Given the description of an element on the screen output the (x, y) to click on. 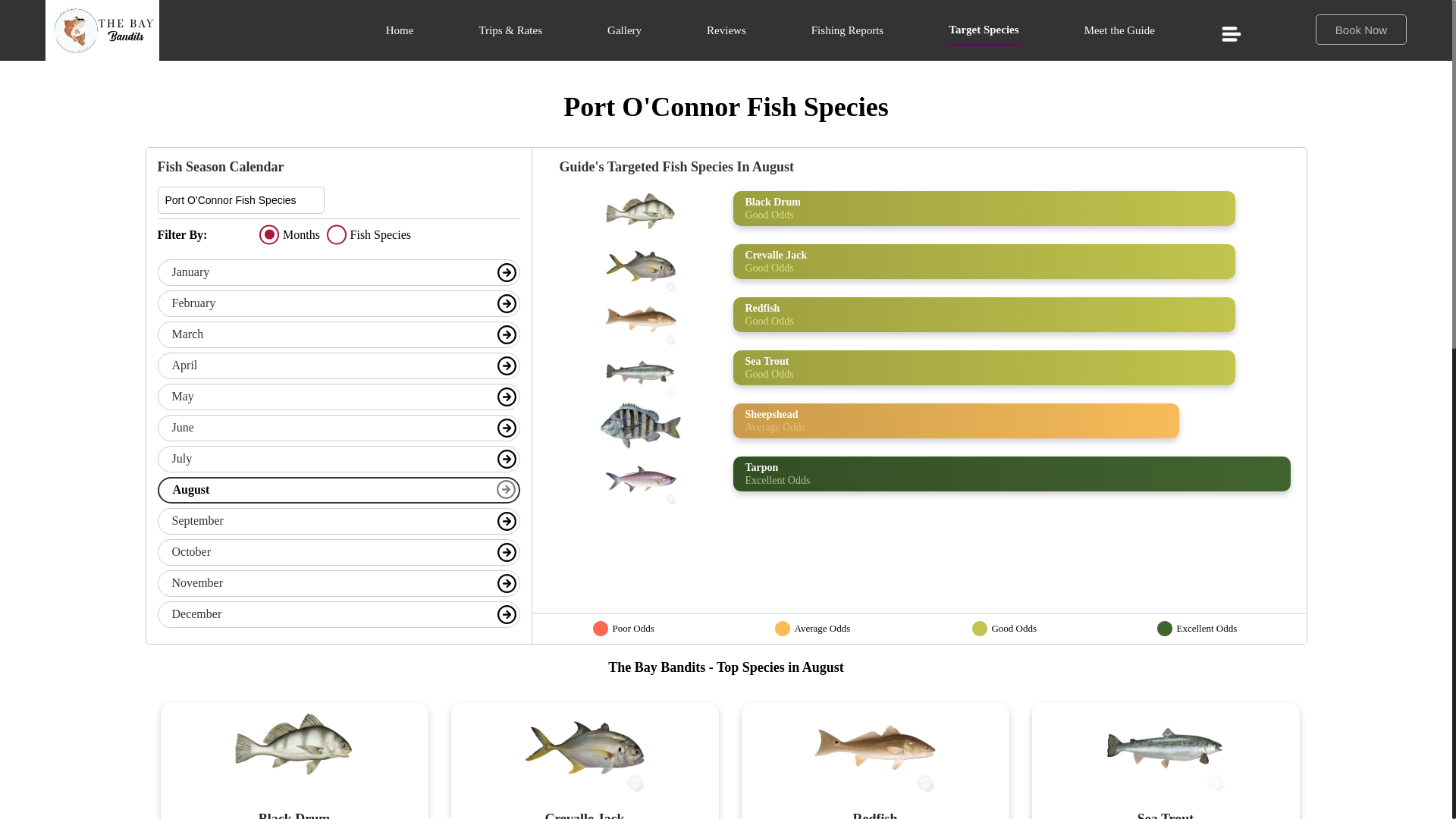
Home (399, 34)
Gallery (624, 34)
Meet the Guide (1119, 34)
Target Species (983, 33)
2 (336, 234)
Port O'Connor Fish Species (240, 199)
Fishing Reports (846, 34)
Reviews (725, 34)
1 (269, 234)
Book Now (1361, 29)
